Given the description of an element on the screen output the (x, y) to click on. 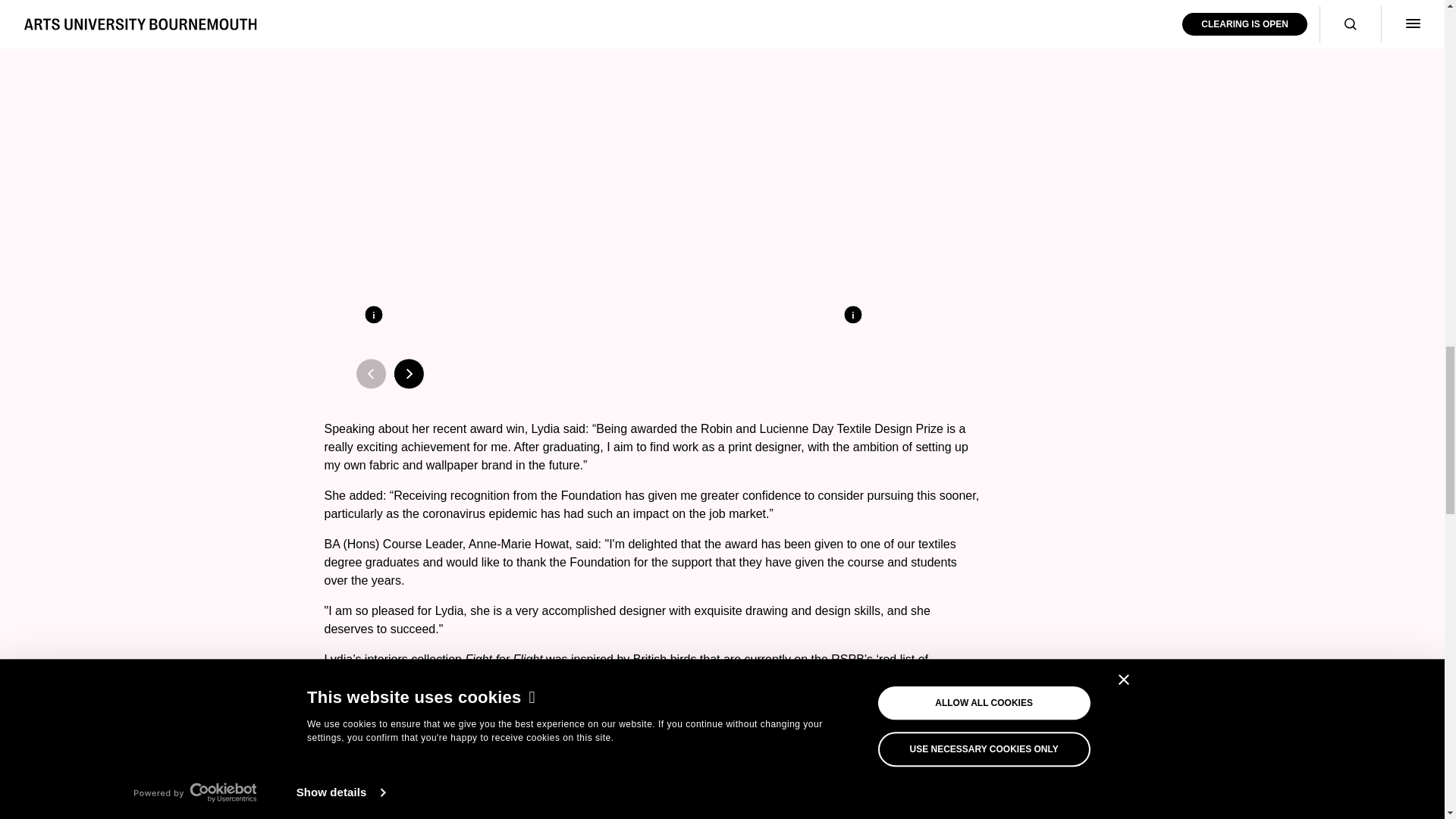
i (374, 314)
i (853, 314)
